Given the description of an element on the screen output the (x, y) to click on. 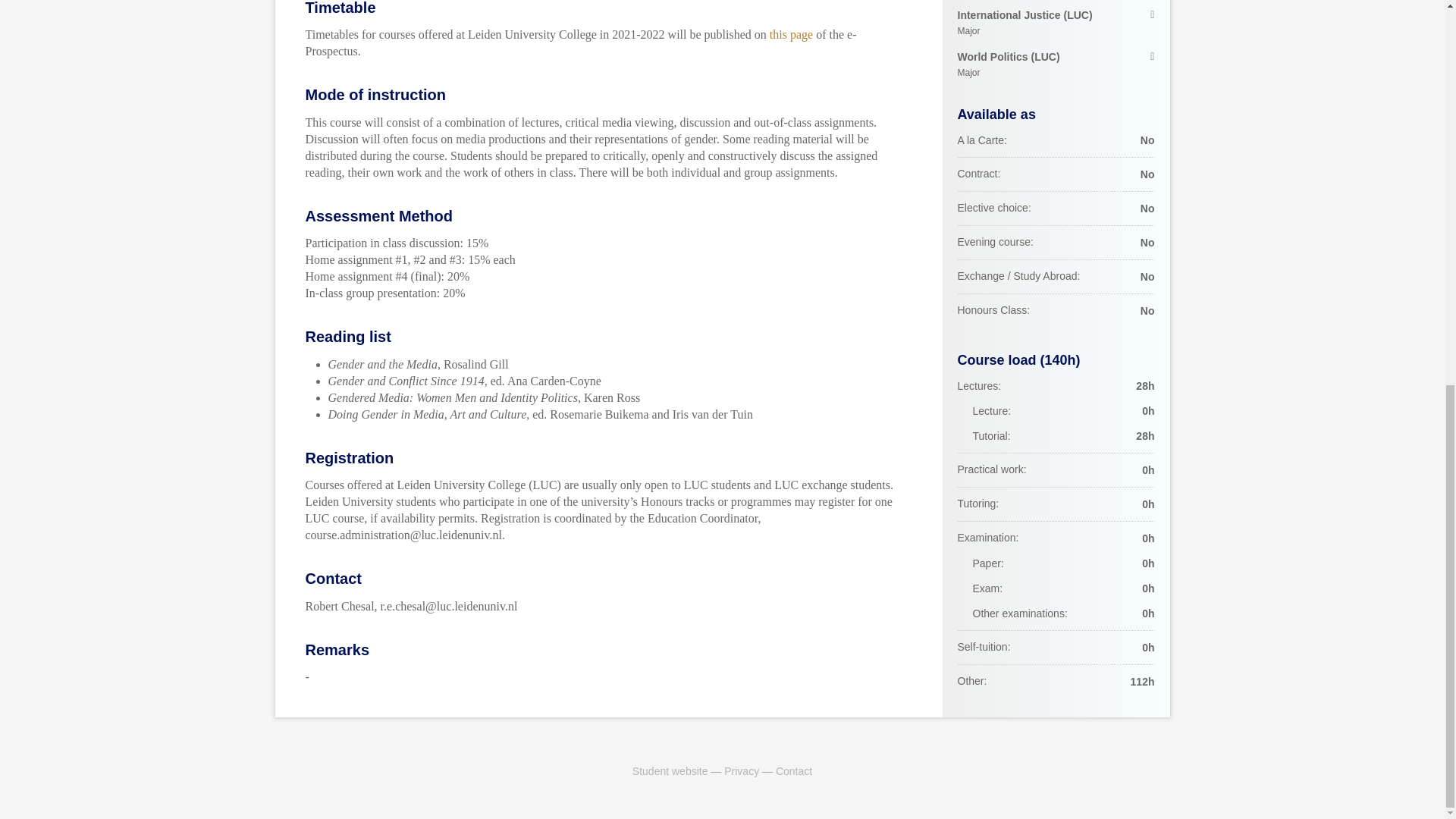
Student website (669, 770)
Privacy (740, 770)
Contact (794, 770)
this page (791, 33)
